Given the description of an element on the screen output the (x, y) to click on. 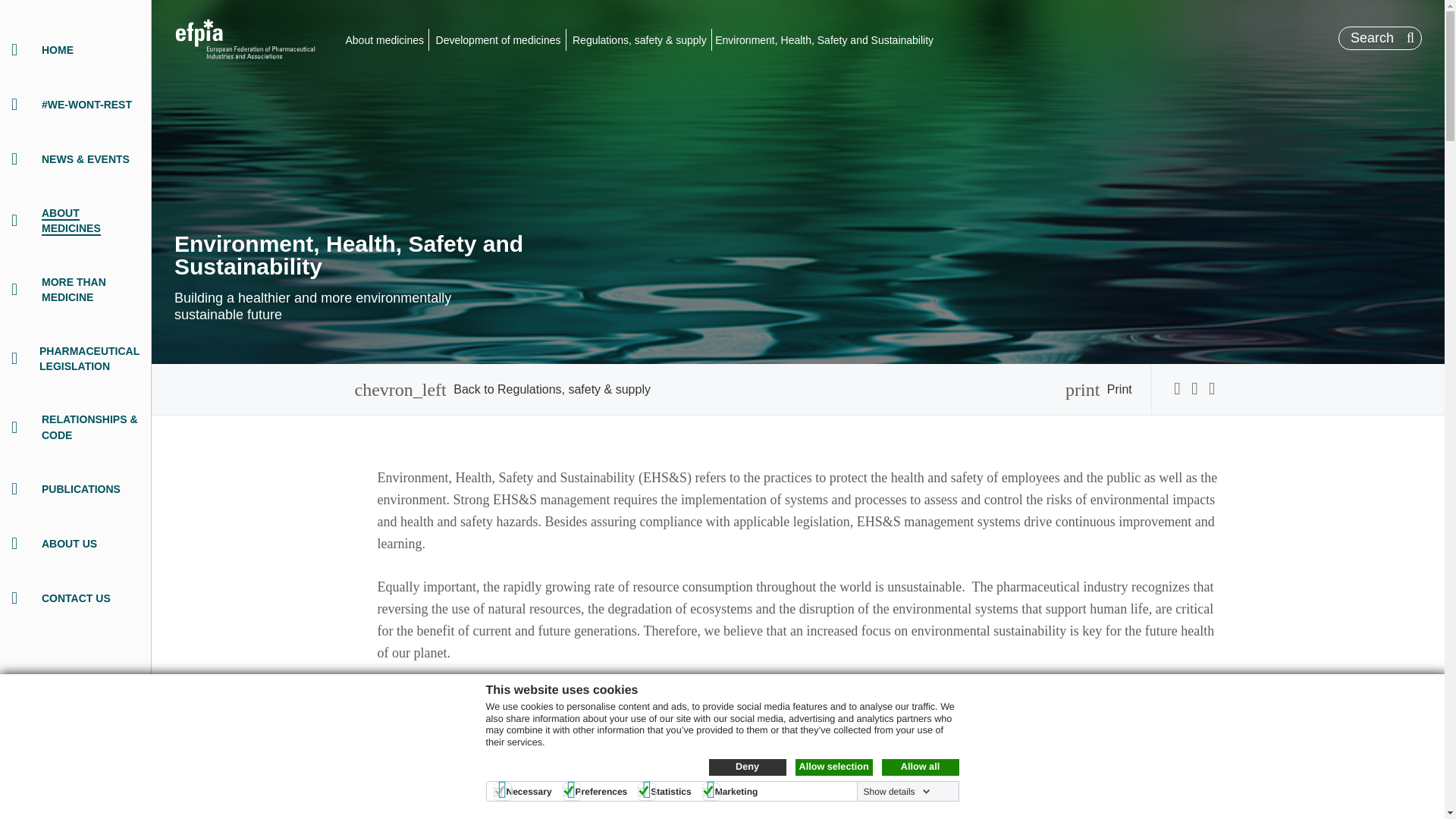
Allow selection (833, 767)
Allow all (919, 767)
Deny (746, 767)
Show details (896, 791)
